Given the description of an element on the screen output the (x, y) to click on. 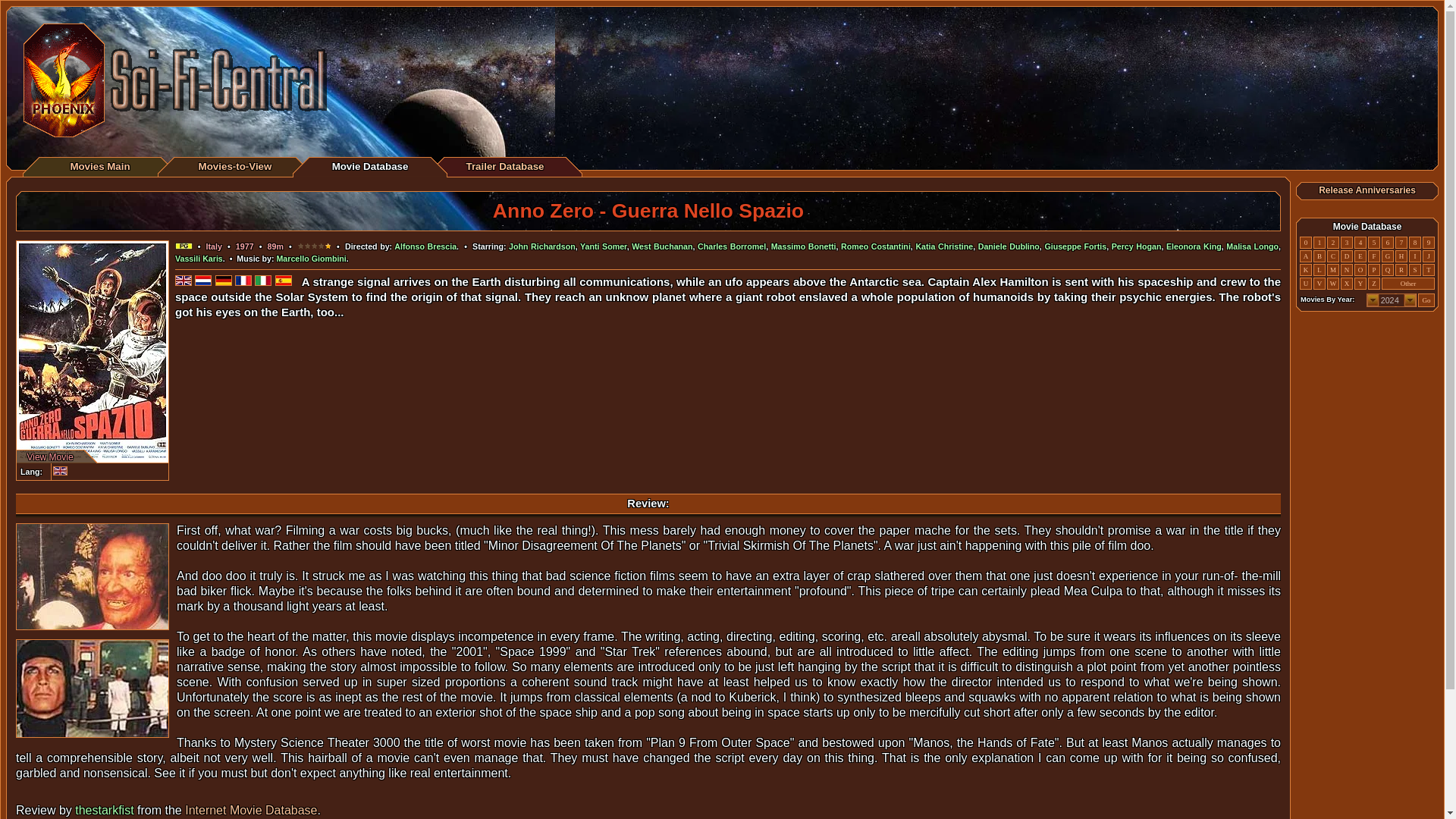
English (59, 470)
Trailer Database (504, 165)
Movies-to-View (235, 165)
Release Anniversaries (1367, 190)
Movies Main (99, 165)
Internet Movie Database (250, 809)
